Given the description of an element on the screen output the (x, y) to click on. 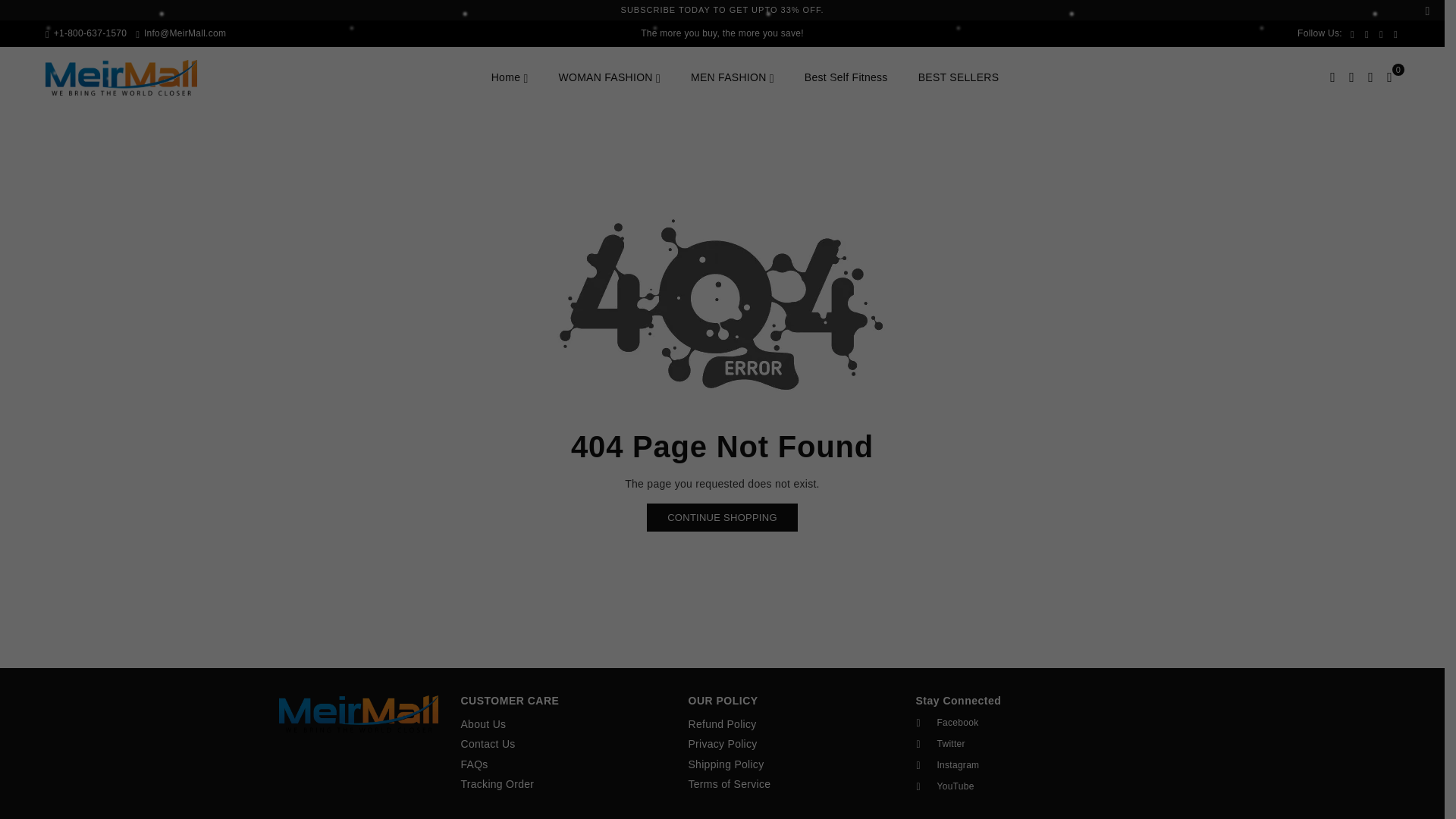
MeirMall on Twitter (1366, 34)
MEN FASHION (732, 77)
MeirMall on Instagram (1013, 765)
MeirMall (132, 77)
YouTube (1396, 34)
Instagram (1381, 34)
Twitter (1366, 34)
MeirMall on Twitter (1013, 744)
WOMAN FASHION (609, 77)
Best Self Fitness (846, 77)
Facebook (1352, 34)
MeirMall on YouTube (1396, 34)
MeirMall on Instagram (1381, 34)
MeirMall on Facebook (1013, 722)
MeirMall on Facebook (1352, 34)
